Given the description of an element on the screen output the (x, y) to click on. 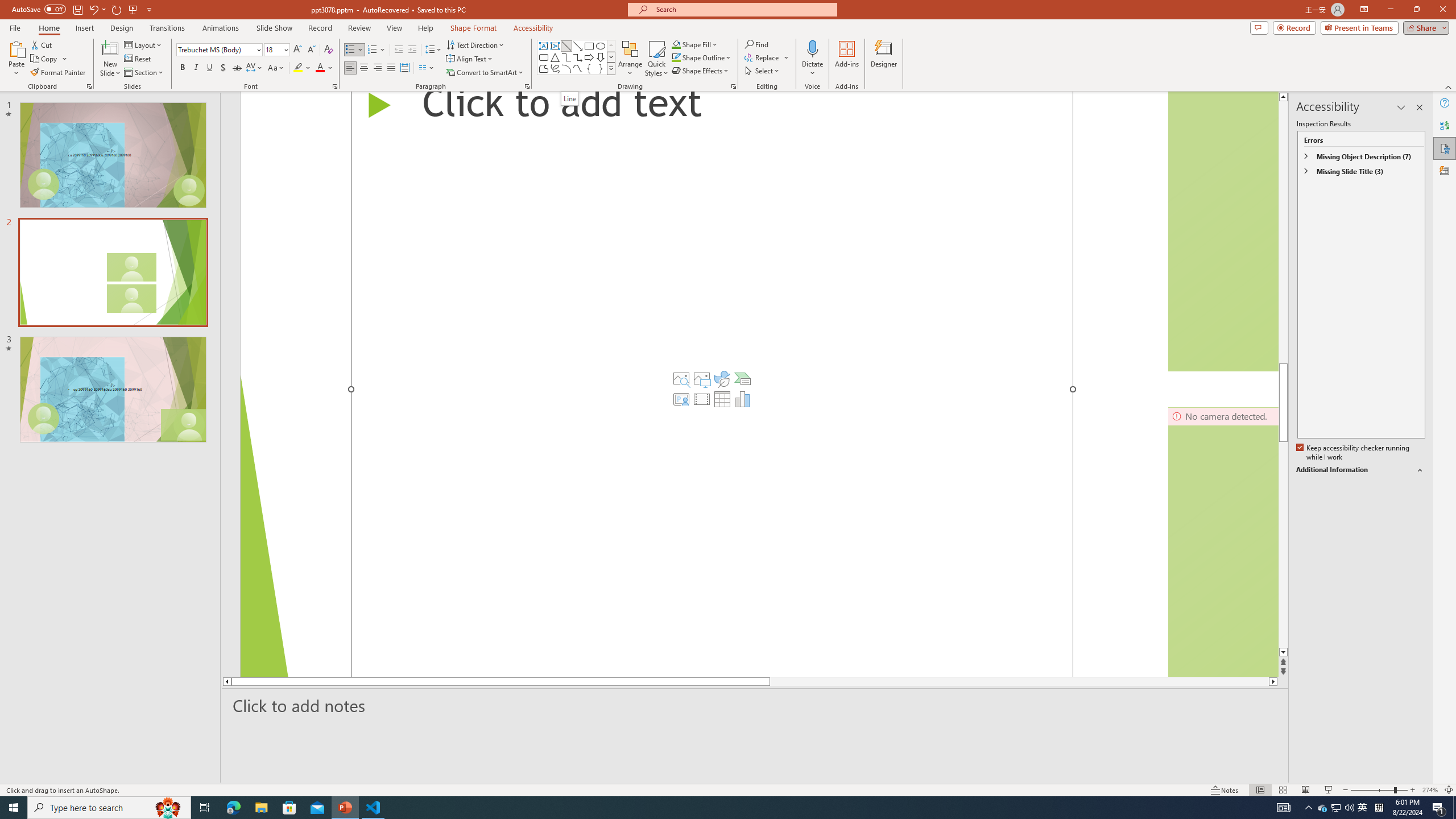
Text Box (543, 45)
Format Object... (733, 85)
Distributed (404, 67)
Font... (334, 85)
Designer (1444, 170)
Cut (42, 44)
Page up (1283, 232)
